Given the description of an element on the screen output the (x, y) to click on. 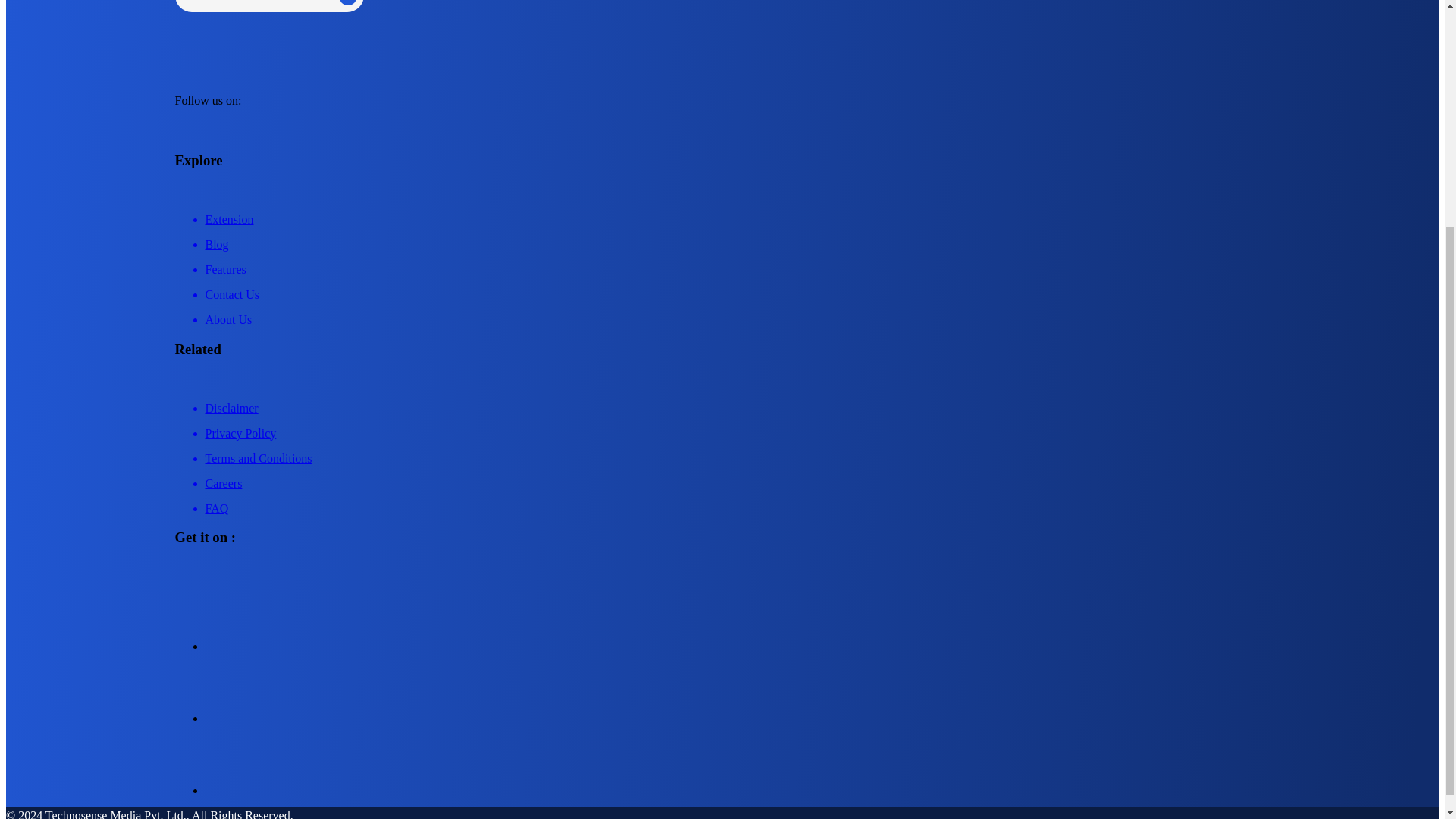
Privacy Policy (737, 427)
FAQ (737, 502)
Contact Us (737, 289)
Features (737, 263)
Blog (737, 238)
About Us (737, 314)
Careers (737, 478)
Disclaimer (737, 402)
Terms and Conditions (737, 453)
Extension (737, 213)
